Given the description of an element on the screen output the (x, y) to click on. 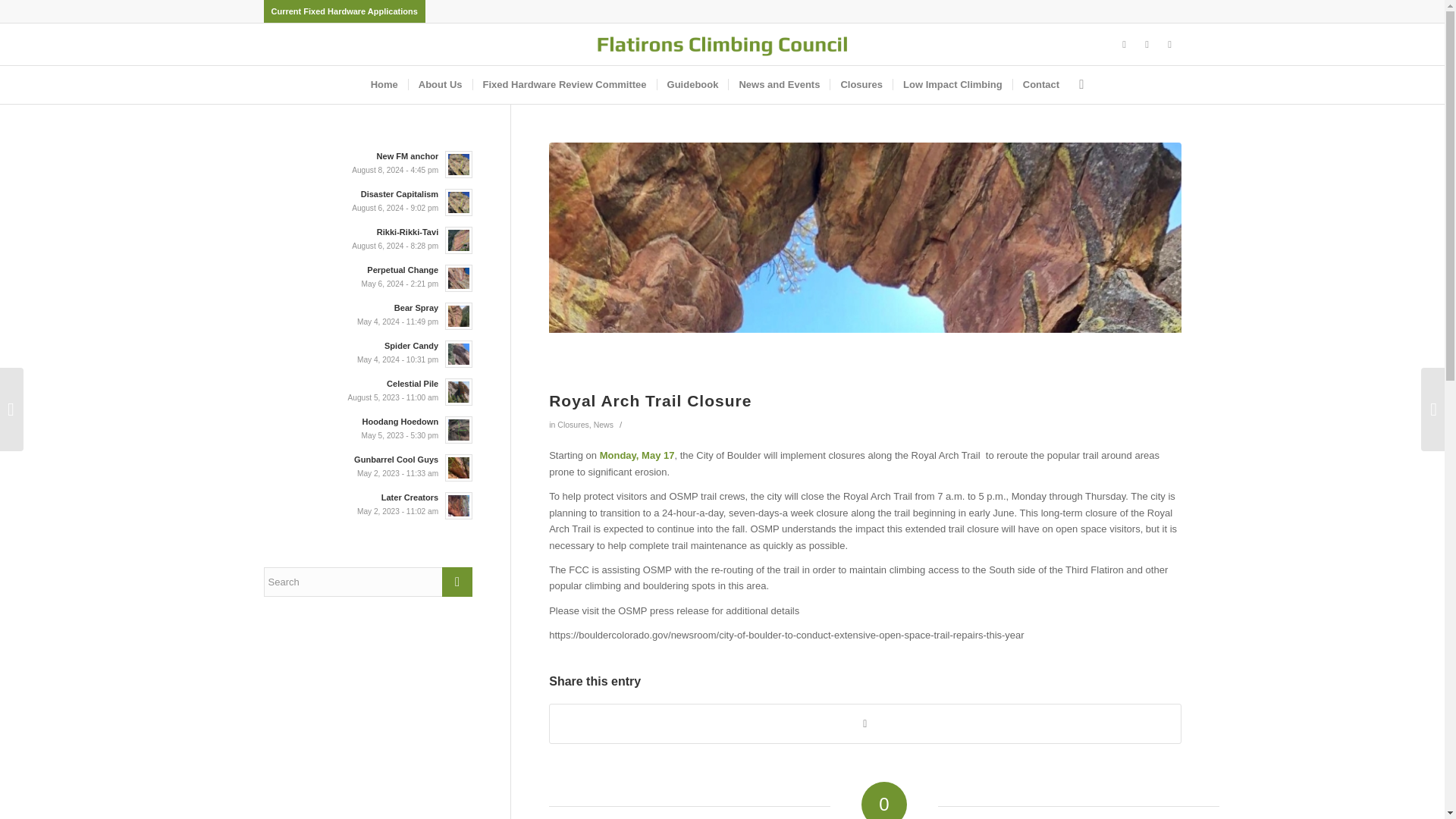
Mail (1169, 44)
Facebook (1124, 44)
Rikki-Rikki-Tavi (368, 238)
Perpetual Change (368, 276)
Fixed Hardware Review Committee (563, 85)
Spider Candy (368, 352)
New FM anchor (368, 163)
Home (384, 85)
Instagram (1146, 44)
